Given the description of an element on the screen output the (x, y) to click on. 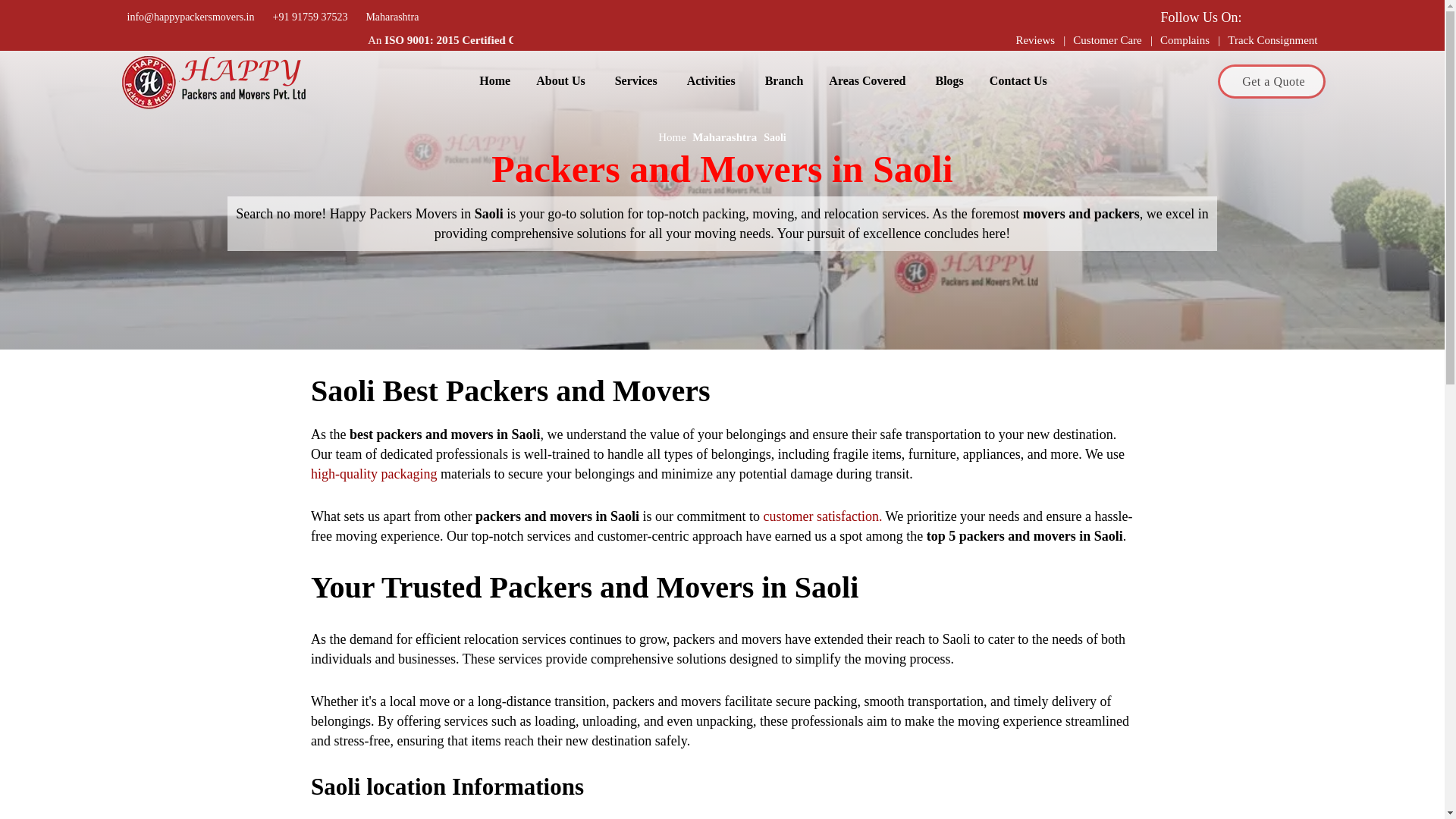
About Us (561, 80)
Maharashtra (388, 17)
Services (638, 80)
Track Consignment (1272, 38)
